Given the description of an element on the screen output the (x, y) to click on. 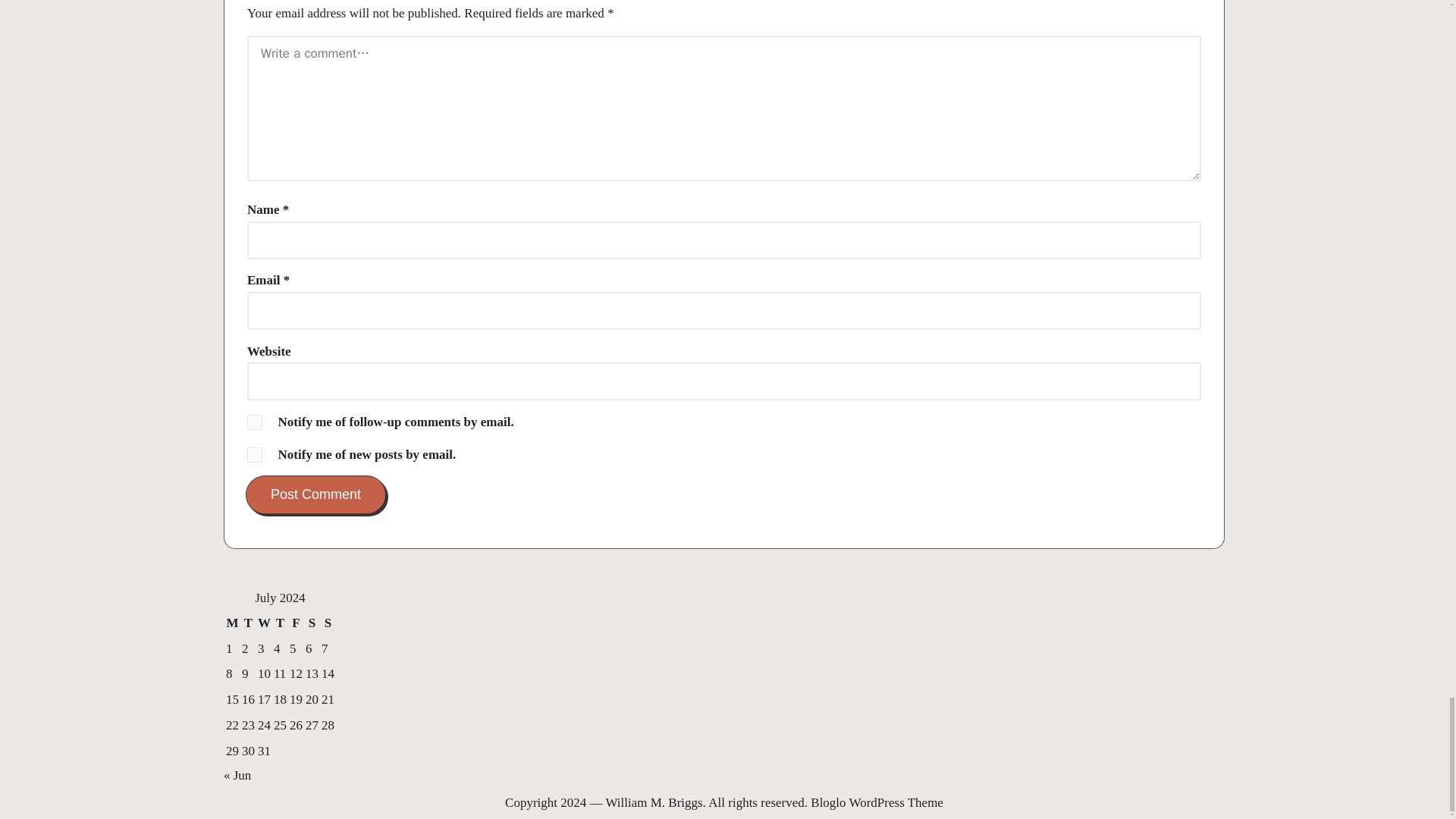
Post Comment (315, 494)
Tuesday (248, 622)
Monday (232, 622)
subscribe (254, 421)
subscribe (254, 454)
